Given the description of an element on the screen output the (x, y) to click on. 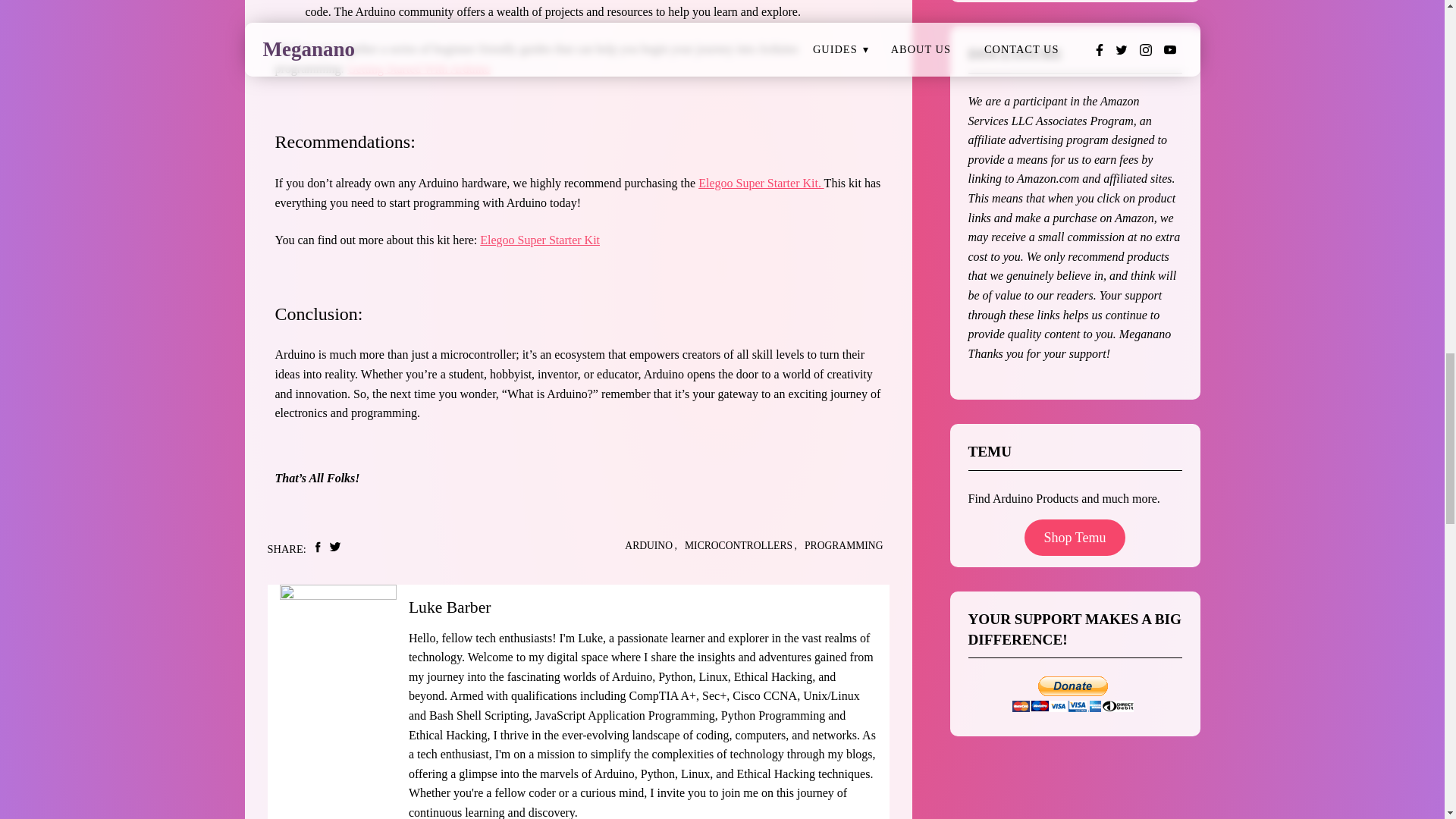
MICROCONTROLLERS (738, 545)
Getting Started With Arduino (418, 68)
Luke Barber (450, 607)
Elegoo Super Starter Kit. (761, 182)
ARDUINO (648, 545)
Elegoo Super Starter Kit (539, 239)
PROGRAMMING (843, 545)
PayPal - The safer, easier way to pay online! (1072, 693)
